Given the description of an element on the screen output the (x, y) to click on. 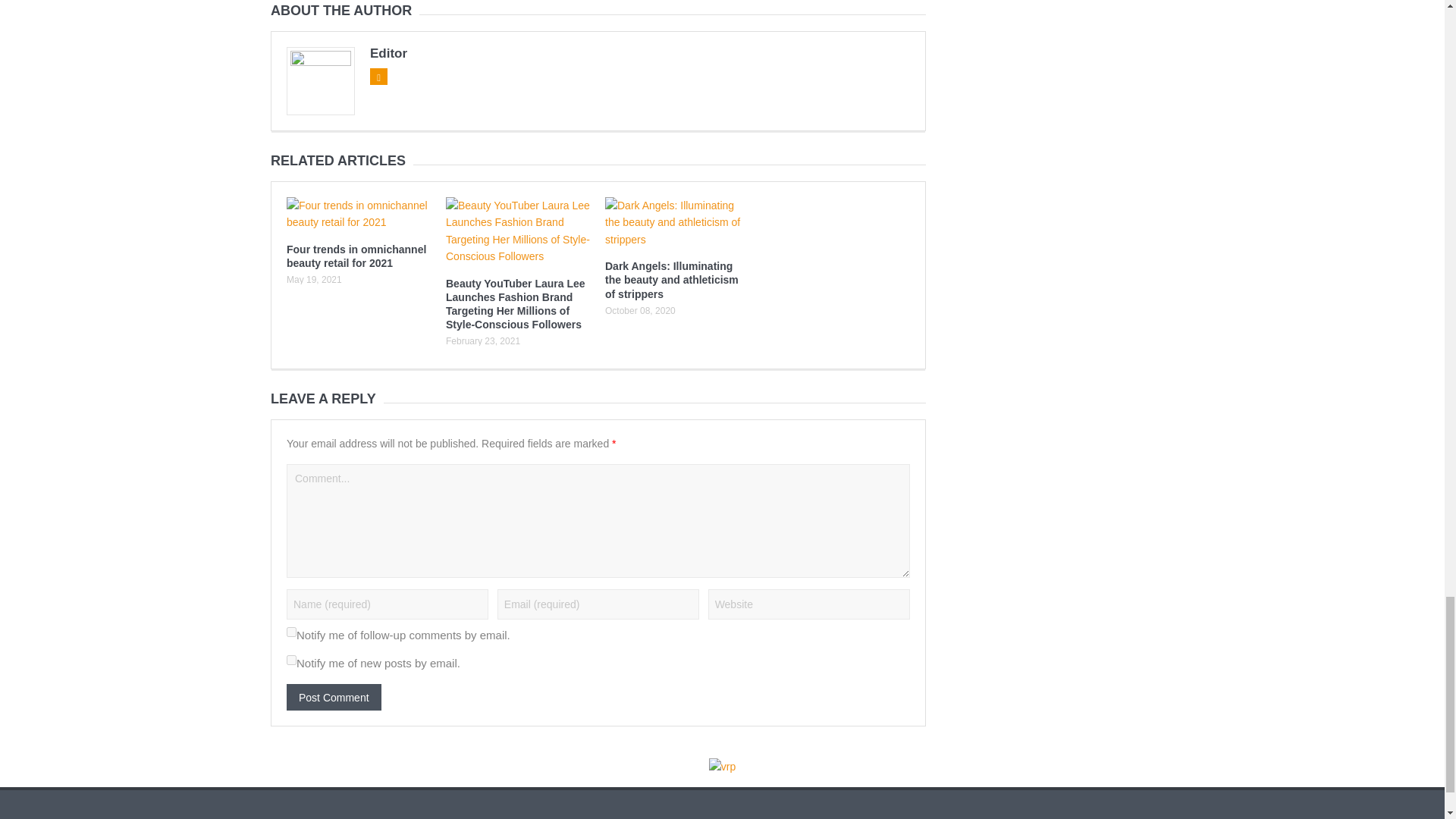
subscribe (291, 660)
subscribe (291, 632)
Post Comment (333, 696)
